Given the description of an element on the screen output the (x, y) to click on. 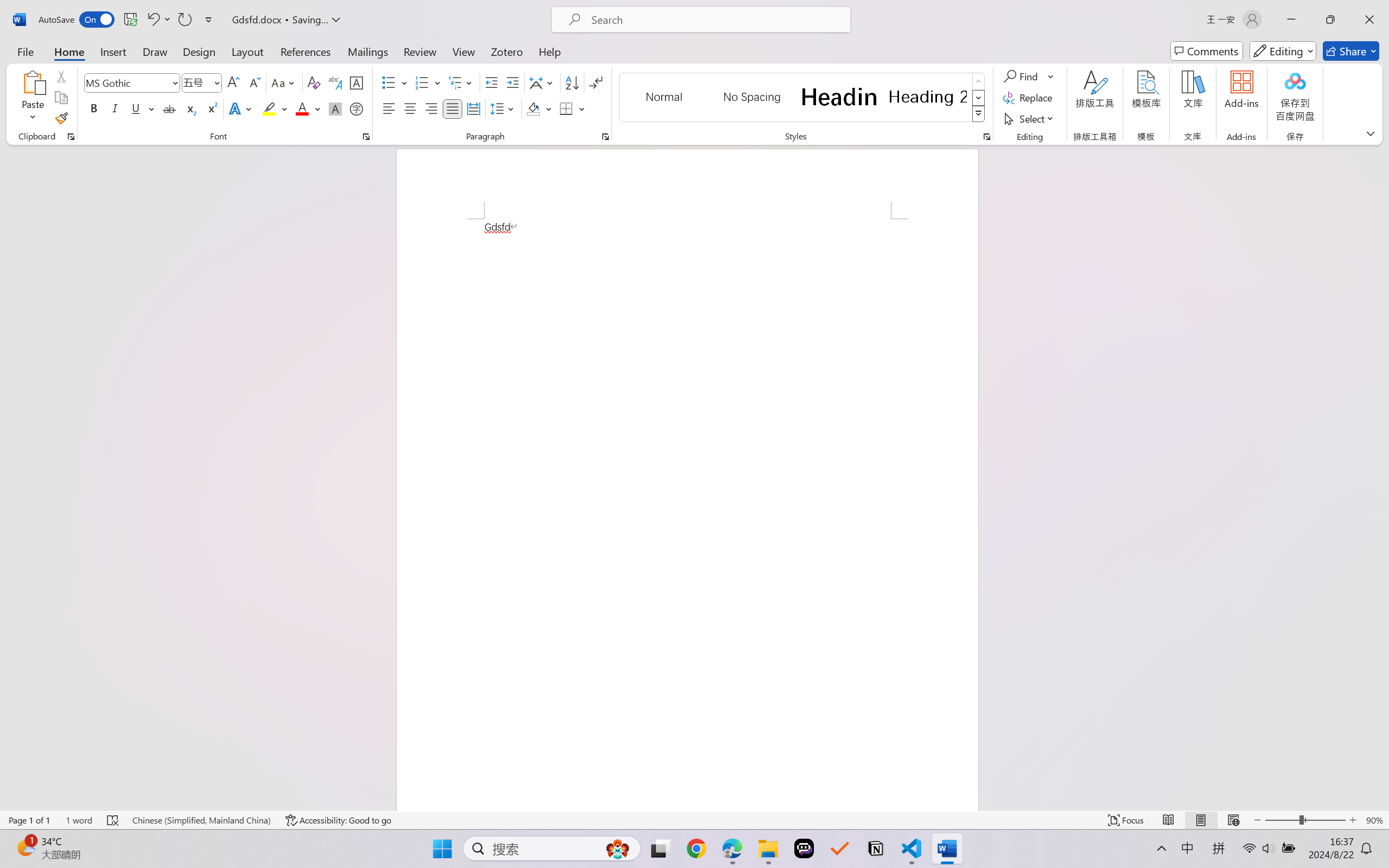
Undo Font Formatting (158, 19)
